Given the description of an element on the screen output the (x, y) to click on. 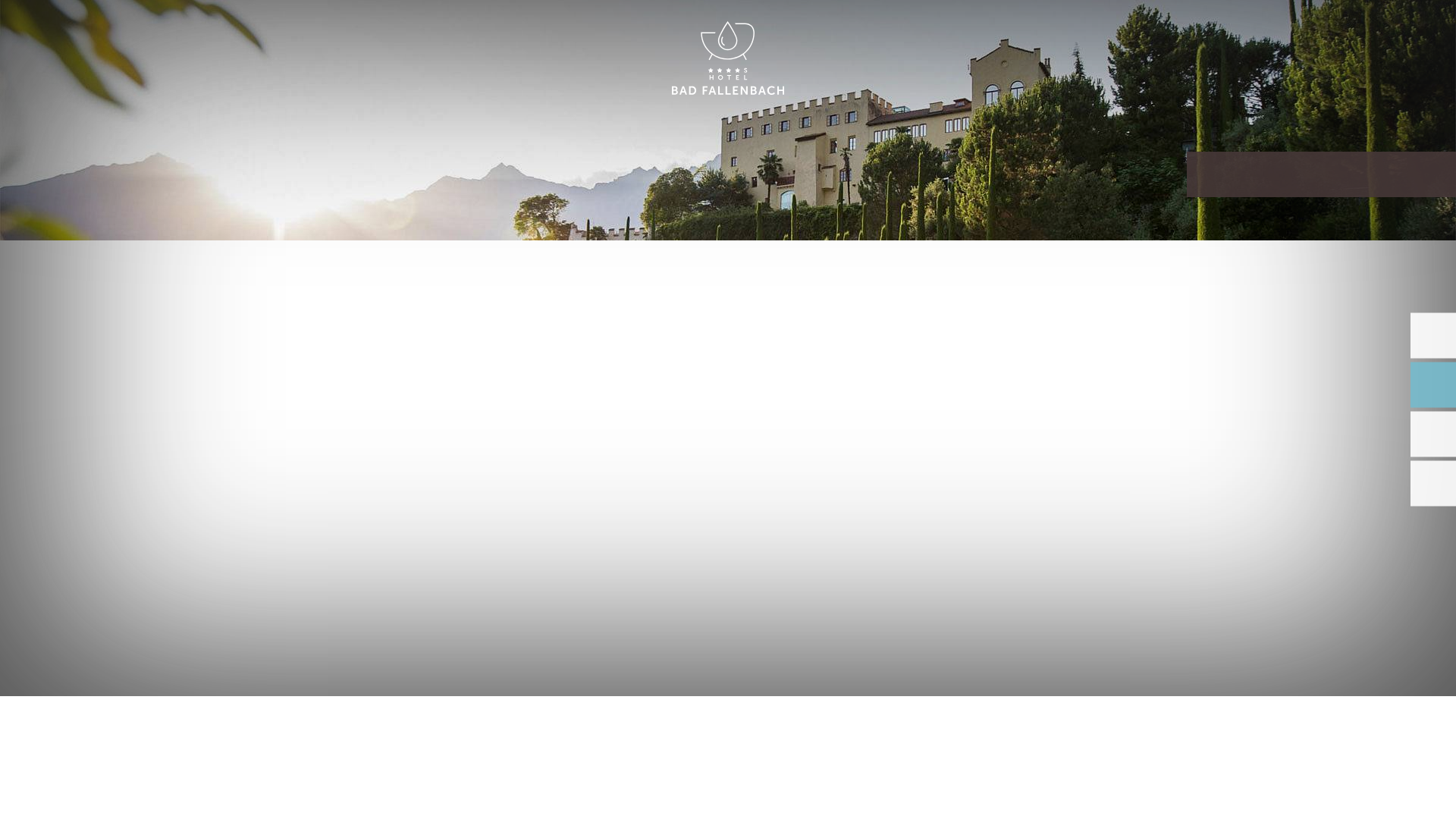
HOTEL BAD FALLENBACH (727, 59)
ENGLISH (1291, 29)
